Given the description of an element on the screen output the (x, y) to click on. 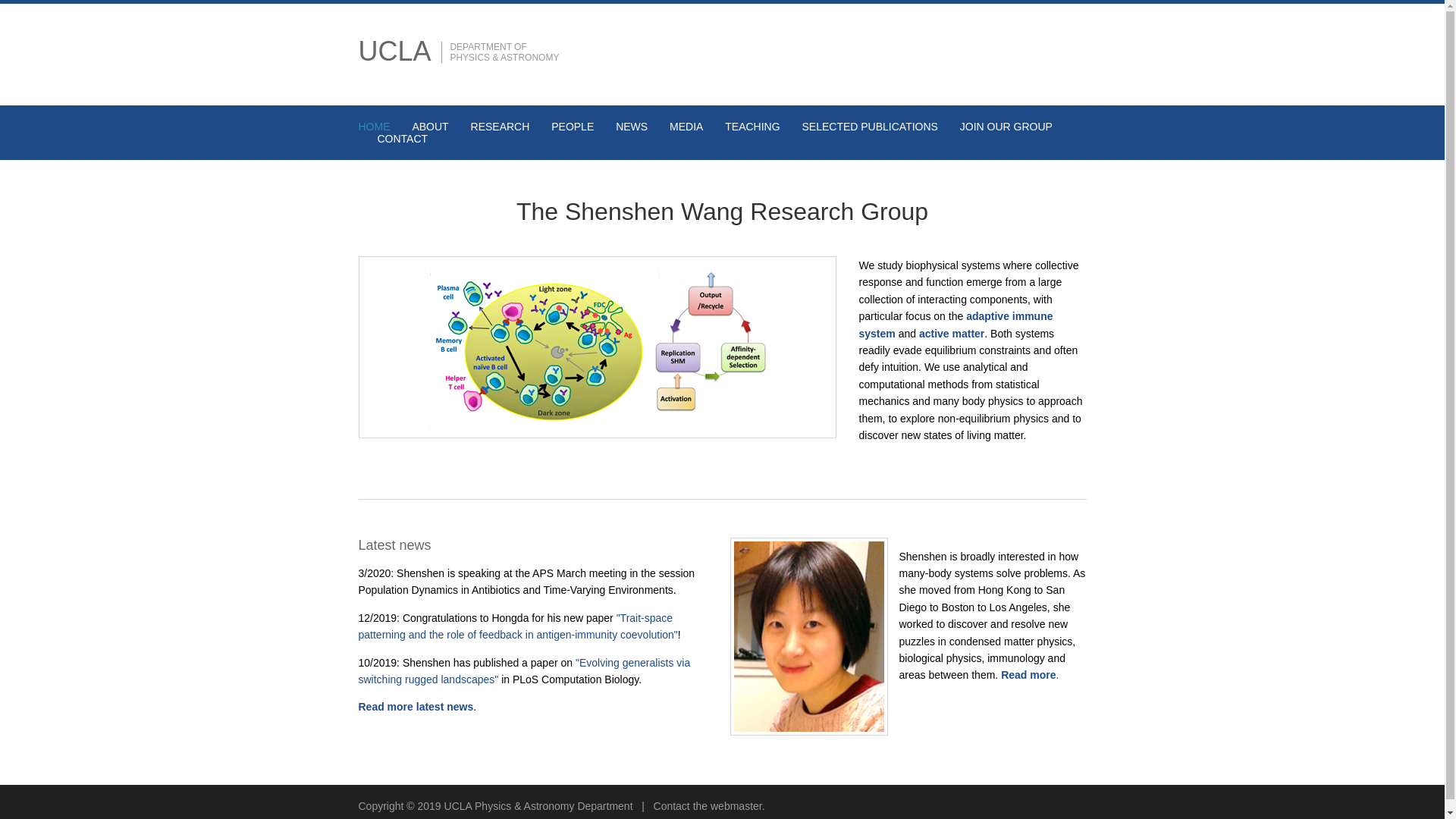
TEACHING (751, 126)
"Evolving generalists via switching rugged landscapes" (524, 670)
SELECTED PUBLICATIONS (869, 126)
RESEARCH (499, 126)
HOME (374, 126)
Read more. (1029, 674)
Contact the webmaster (707, 806)
NEWS (631, 126)
Read more latest news (415, 706)
ABOUT (430, 126)
JOIN OUR GROUP (1005, 126)
CONTACT (402, 138)
UCLA (394, 51)
MEDIA (686, 126)
